Given the description of an element on the screen output the (x, y) to click on. 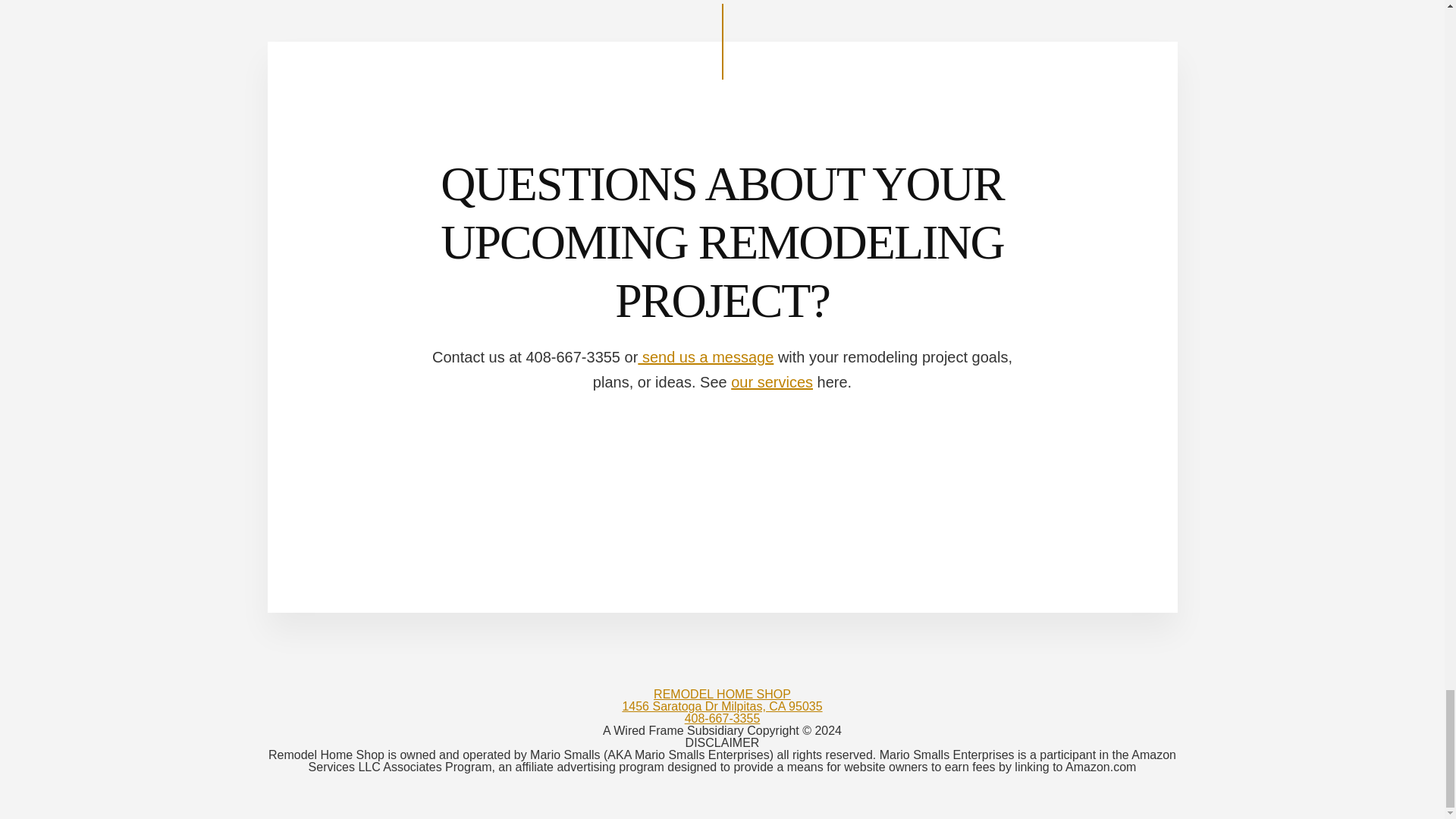
REMODEL HOME SHOP (721, 694)
408-667-3355 (722, 717)
send us a message (705, 356)
1456 Saratoga Dr Milpitas, CA 95035 (721, 706)
our services (771, 381)
